Given the description of an element on the screen output the (x, y) to click on. 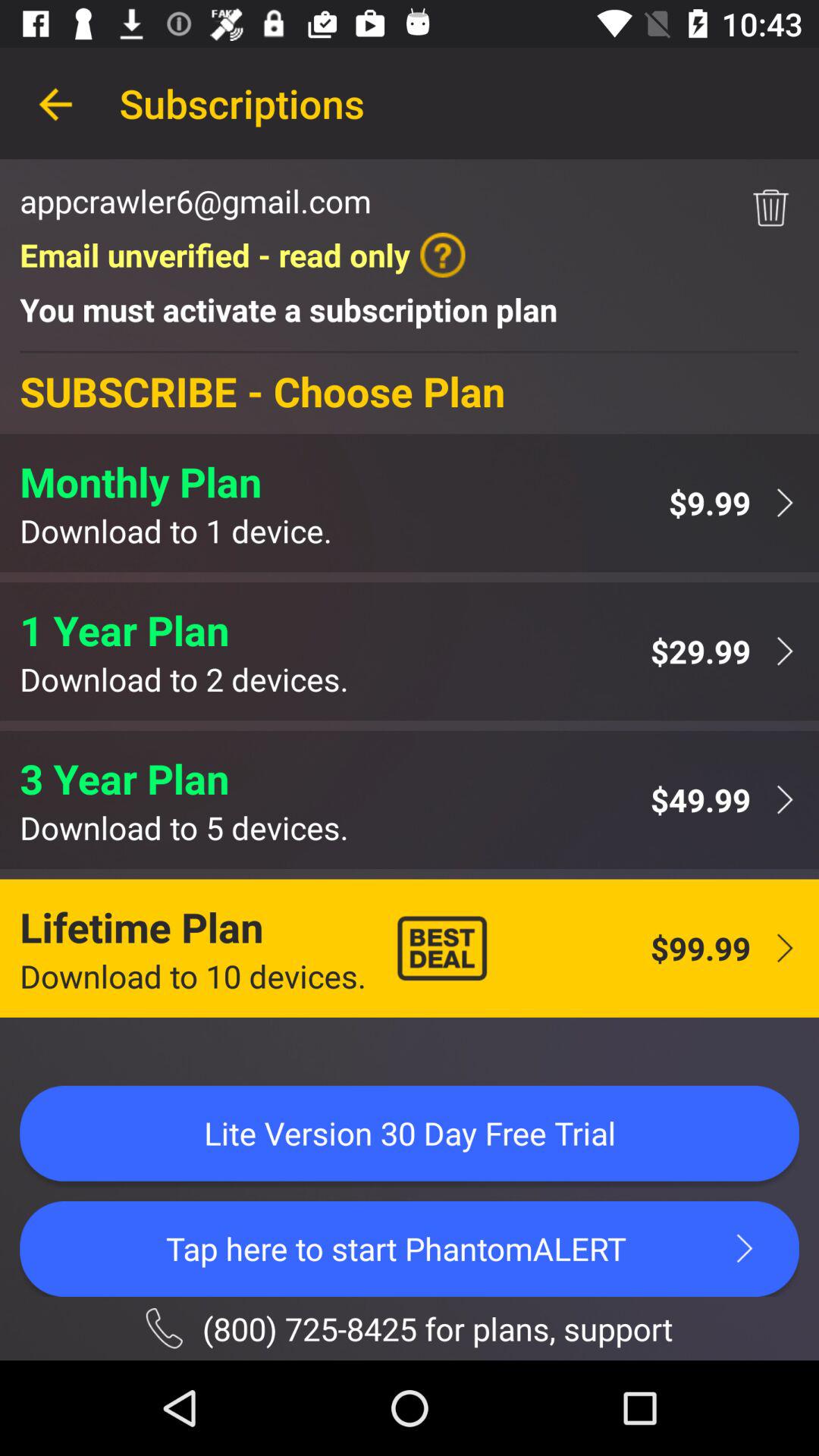
turn off email unverified read item (242, 254)
